Given the description of an element on the screen output the (x, y) to click on. 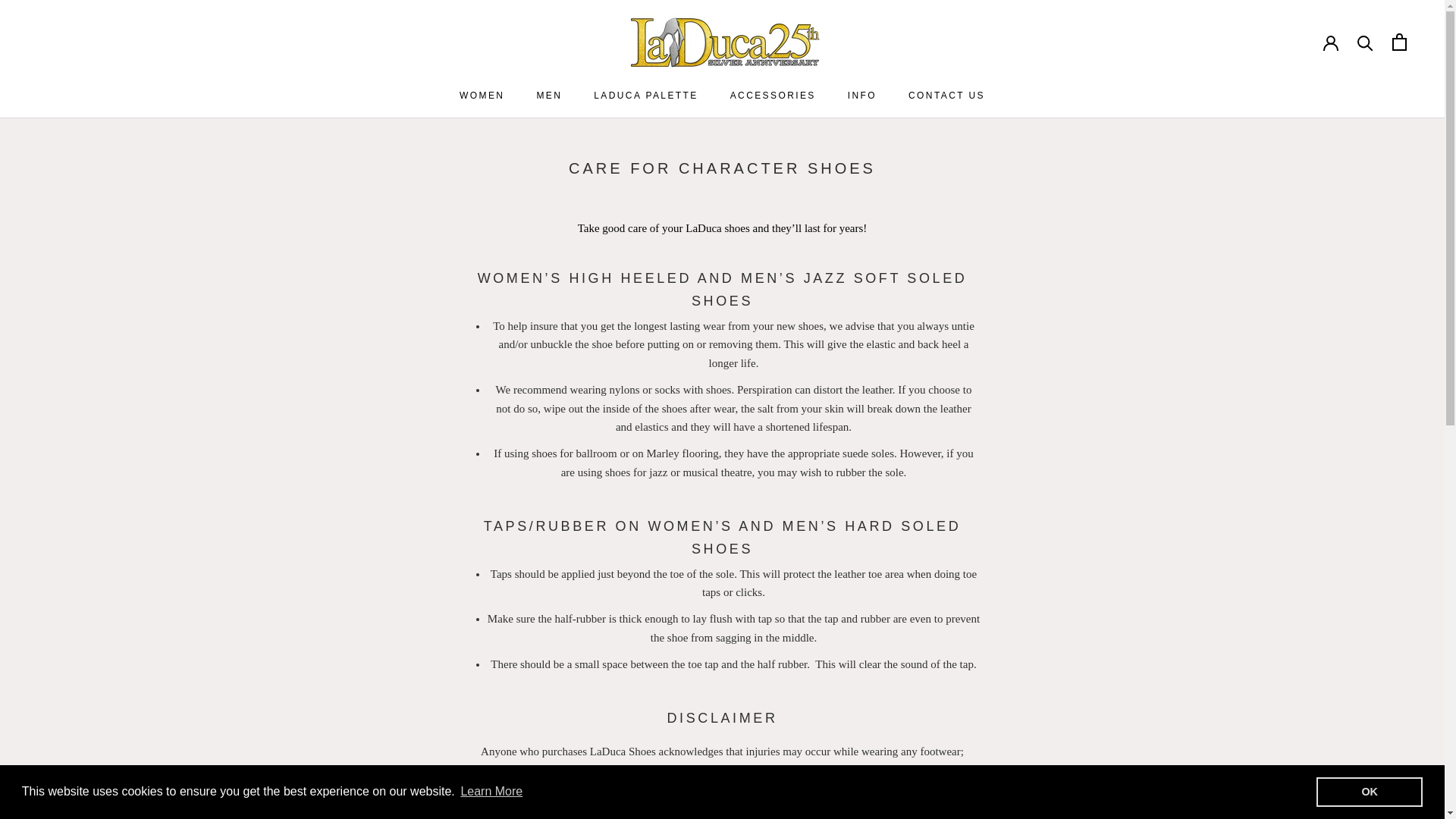
OK (1369, 791)
Learn More (491, 791)
INFO (645, 95)
